Given the description of an element on the screen output the (x, y) to click on. 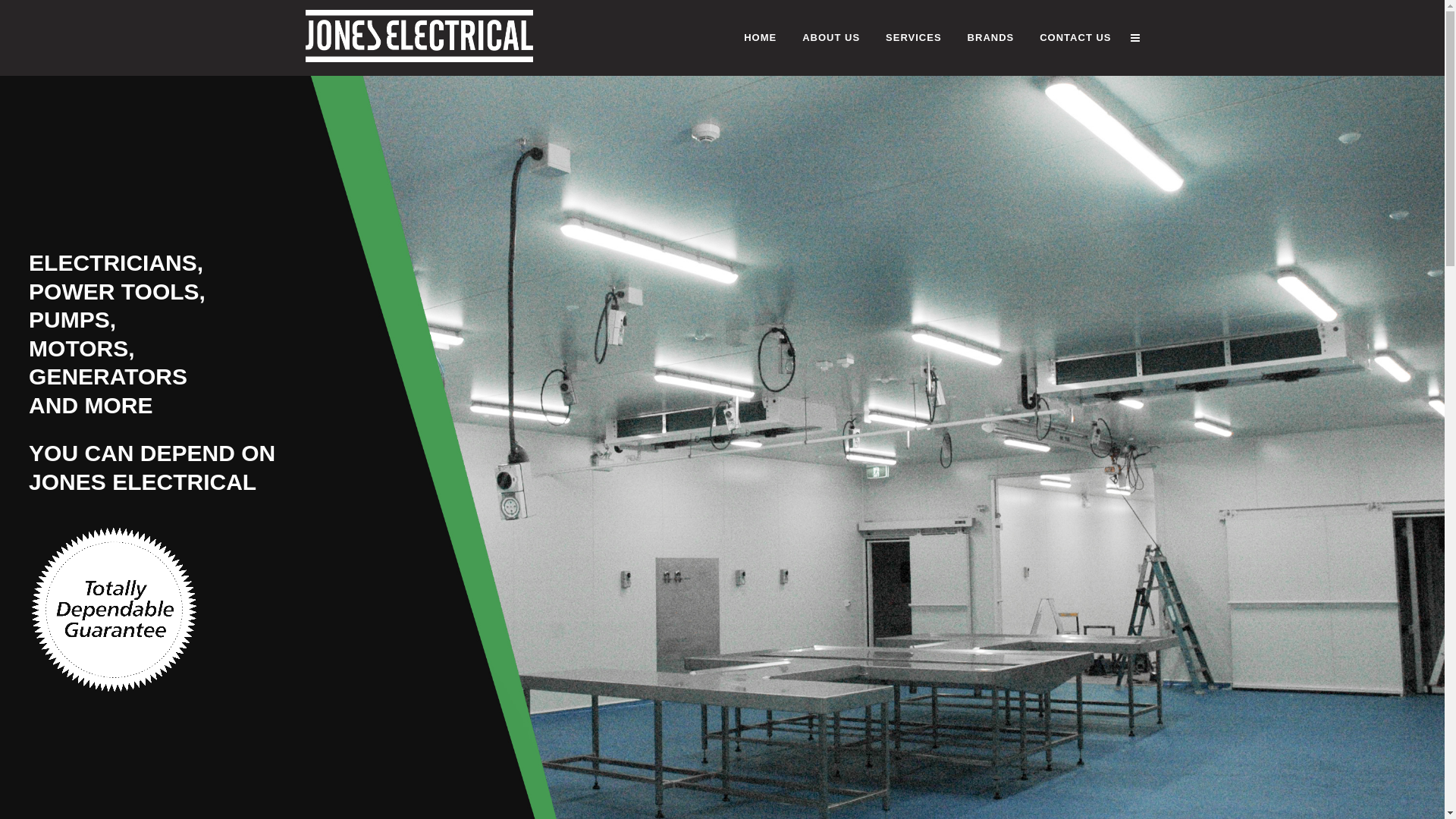
CONTACT US Element type: text (1074, 37)
BRANDS Element type: text (990, 37)
SERVICES Element type: text (913, 37)
HOME Element type: text (760, 37)
ABOUT US Element type: text (830, 37)
